Given the description of an element on the screen output the (x, y) to click on. 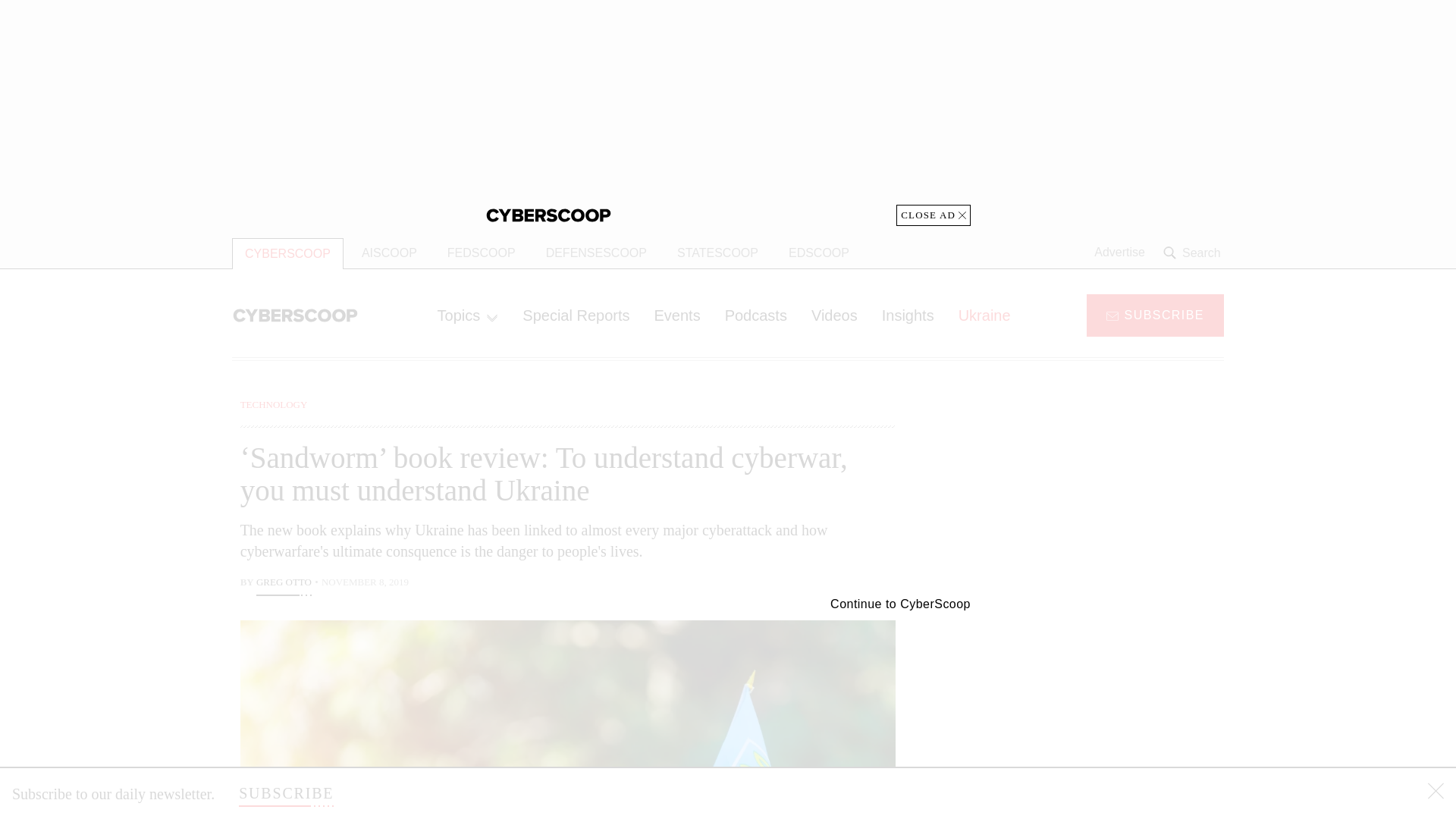
CYBERSCOOP (287, 253)
Greg Otto (283, 583)
Events (676, 315)
3rd party ad content (1101, 705)
Ukraine (984, 315)
EDSCOOP (818, 253)
Special Reports (576, 315)
Advertise (1119, 252)
SUBSCRIBE (1155, 314)
AISCOOP (389, 253)
Insights (907, 315)
Search (1193, 252)
Videos (834, 315)
DEFENSESCOOP (596, 253)
